Given the description of an element on the screen output the (x, y) to click on. 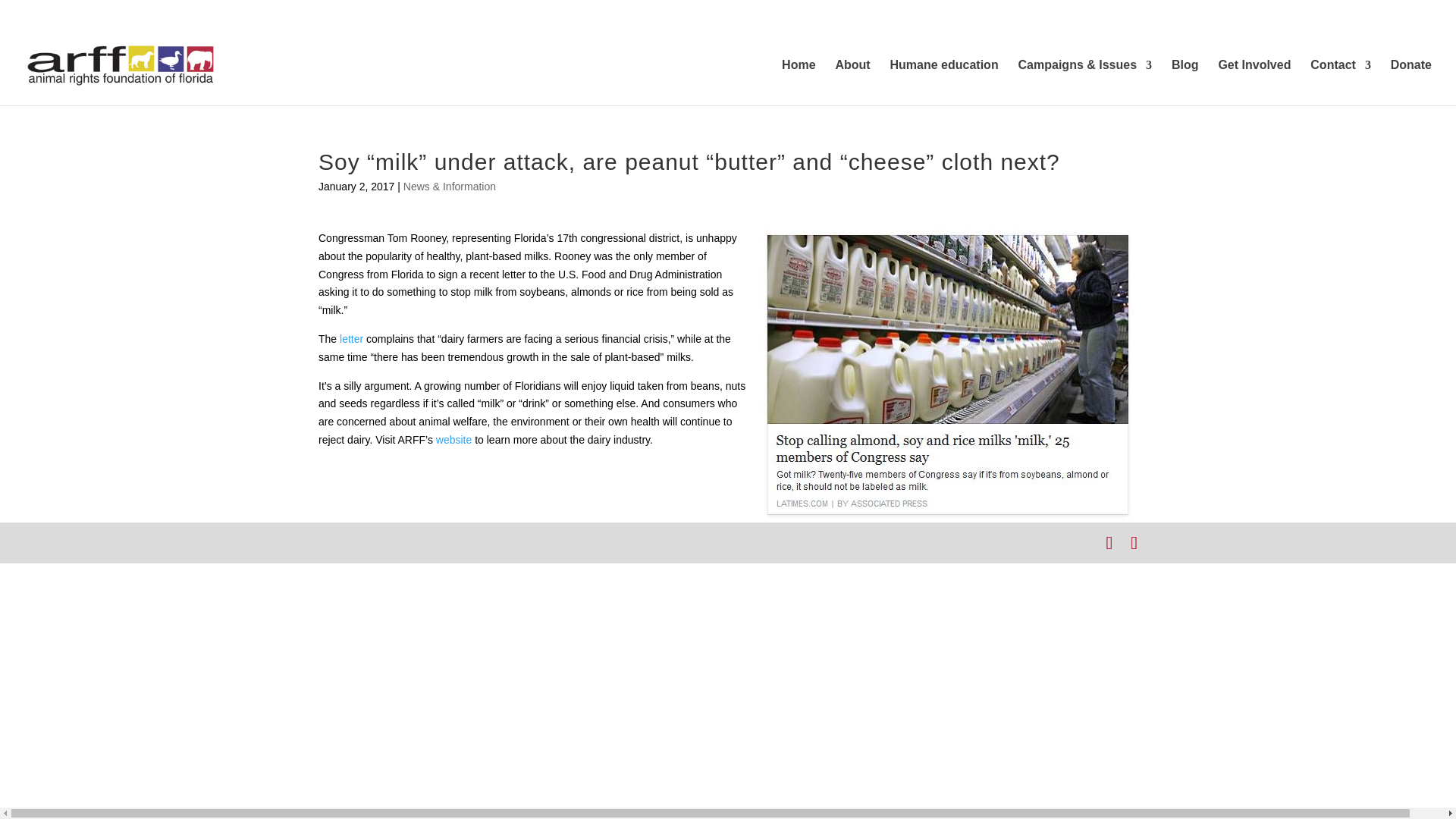
Get Involved (1253, 81)
Premium WordPress Themes (420, 541)
Elegant Themes (420, 541)
letter (350, 338)
Contact (1340, 81)
Donate (1410, 81)
WordPress (557, 541)
Humane education (943, 81)
website (453, 439)
